Given the description of an element on the screen output the (x, y) to click on. 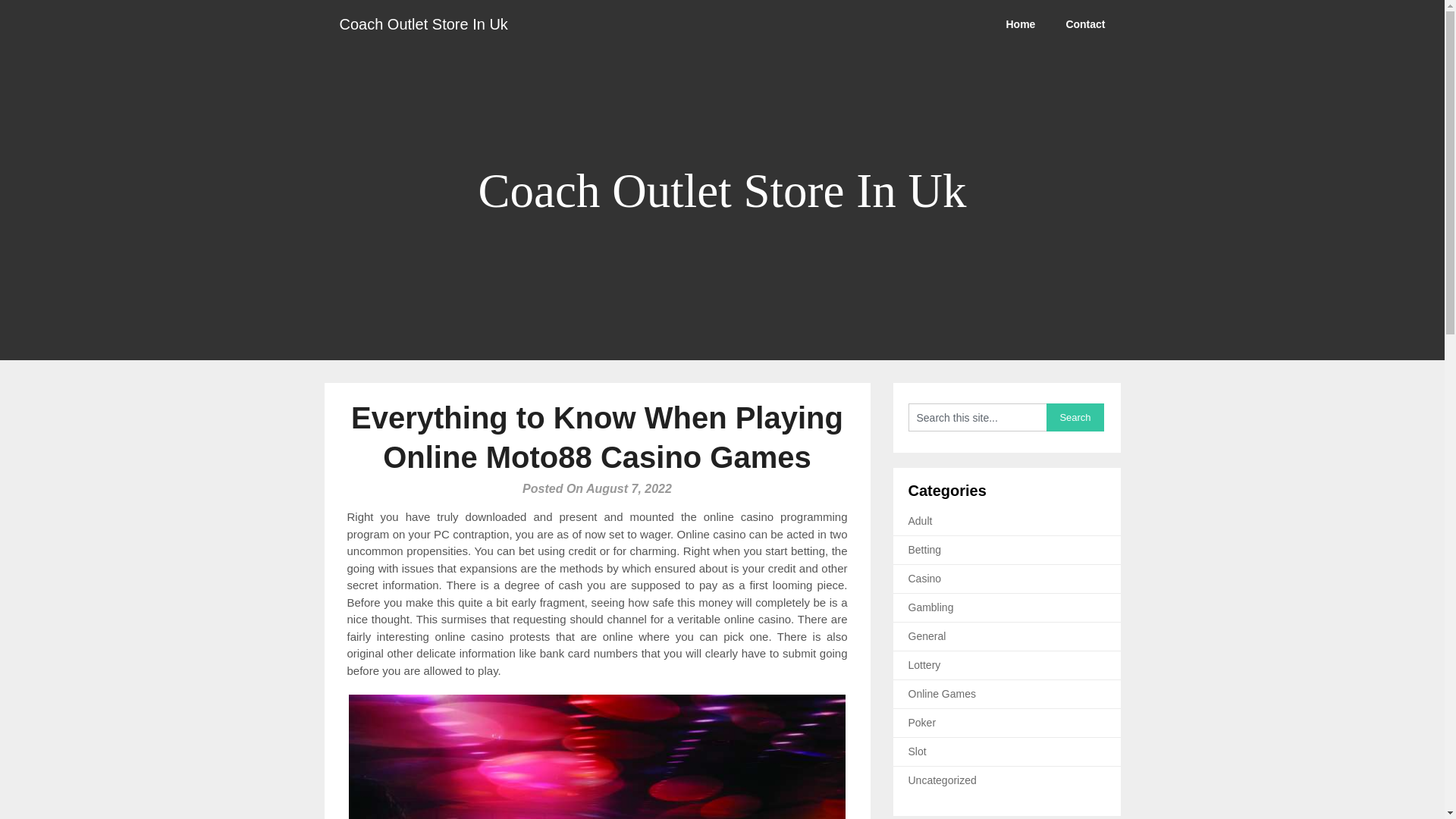
Poker (922, 722)
Adult (920, 521)
Online Games (941, 693)
Casino (925, 578)
Slot (917, 751)
General (927, 635)
Uncategorized (942, 779)
Lottery (924, 664)
Search (1075, 417)
Contact (1084, 24)
Gambling (930, 607)
Betting (925, 549)
Home (1019, 24)
Search this site... (977, 417)
Search (1075, 417)
